Given the description of an element on the screen output the (x, y) to click on. 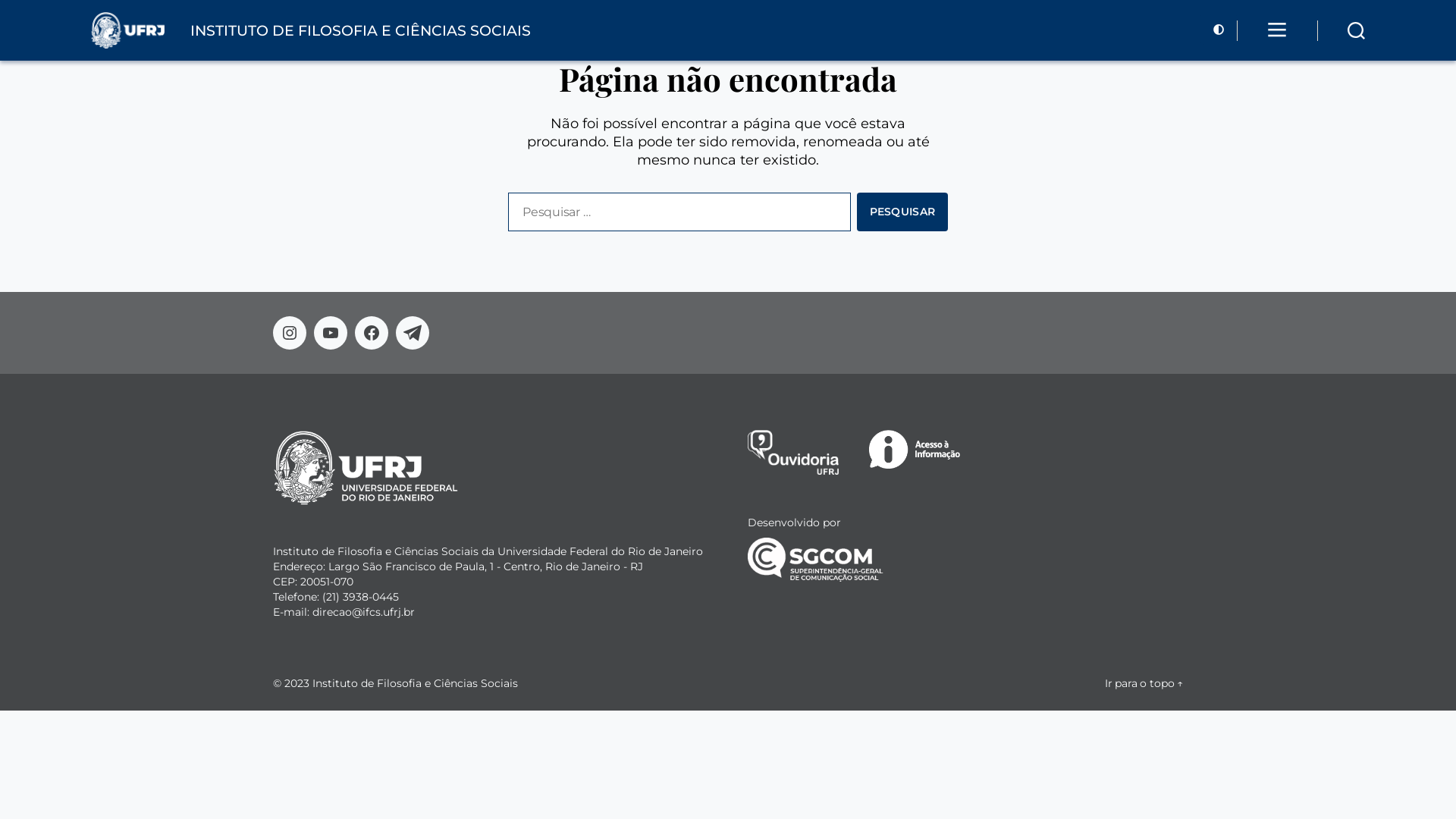
Instagram Element type: text (289, 332)
Facebook Element type: text (371, 332)
Telegram Element type: text (412, 332)
Youtube Element type: text (330, 332)
Pesquisar Element type: text (901, 211)
